Given the description of an element on the screen output the (x, y) to click on. 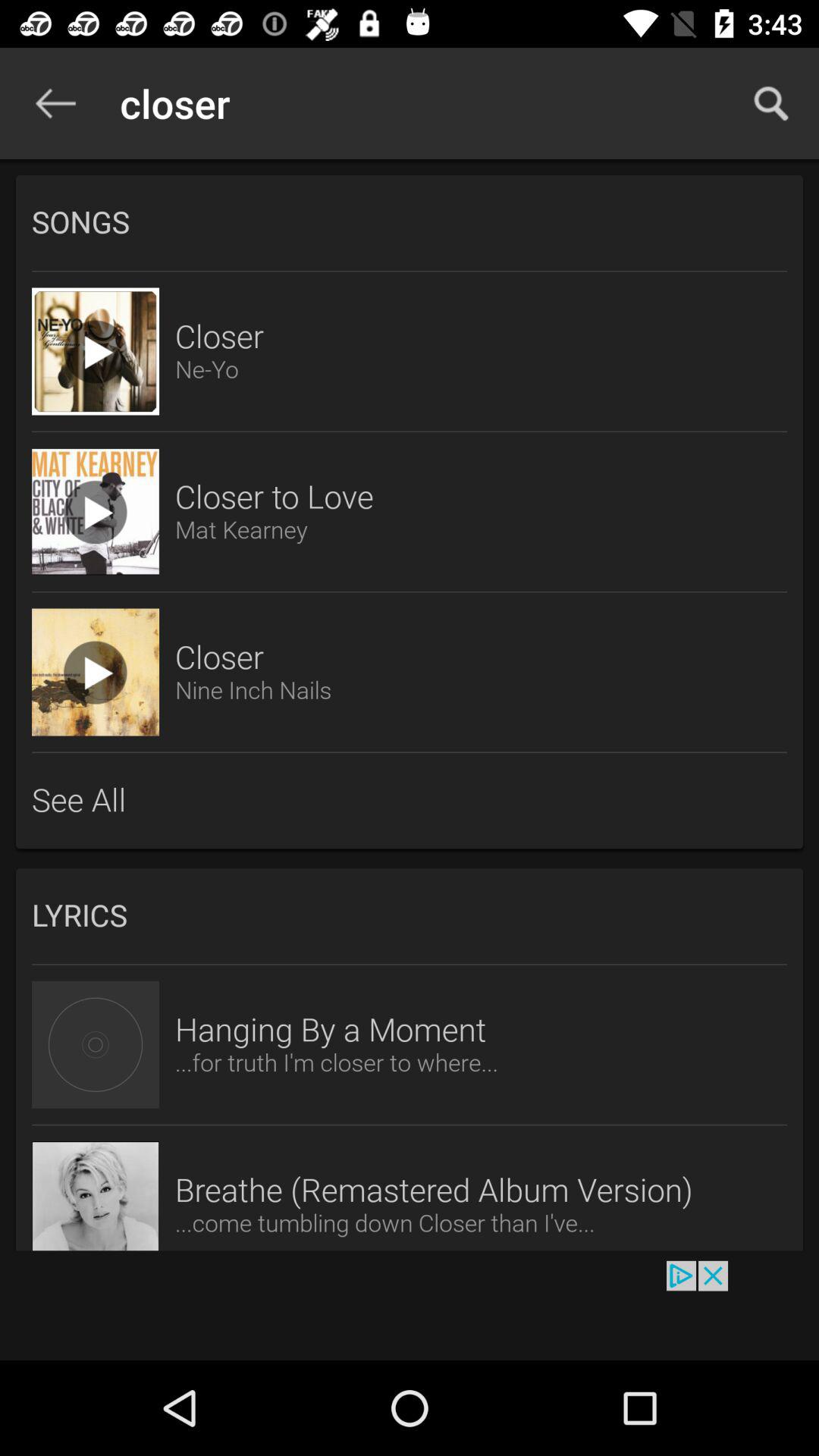
choose song (95, 511)
